Given the description of an element on the screen output the (x, y) to click on. 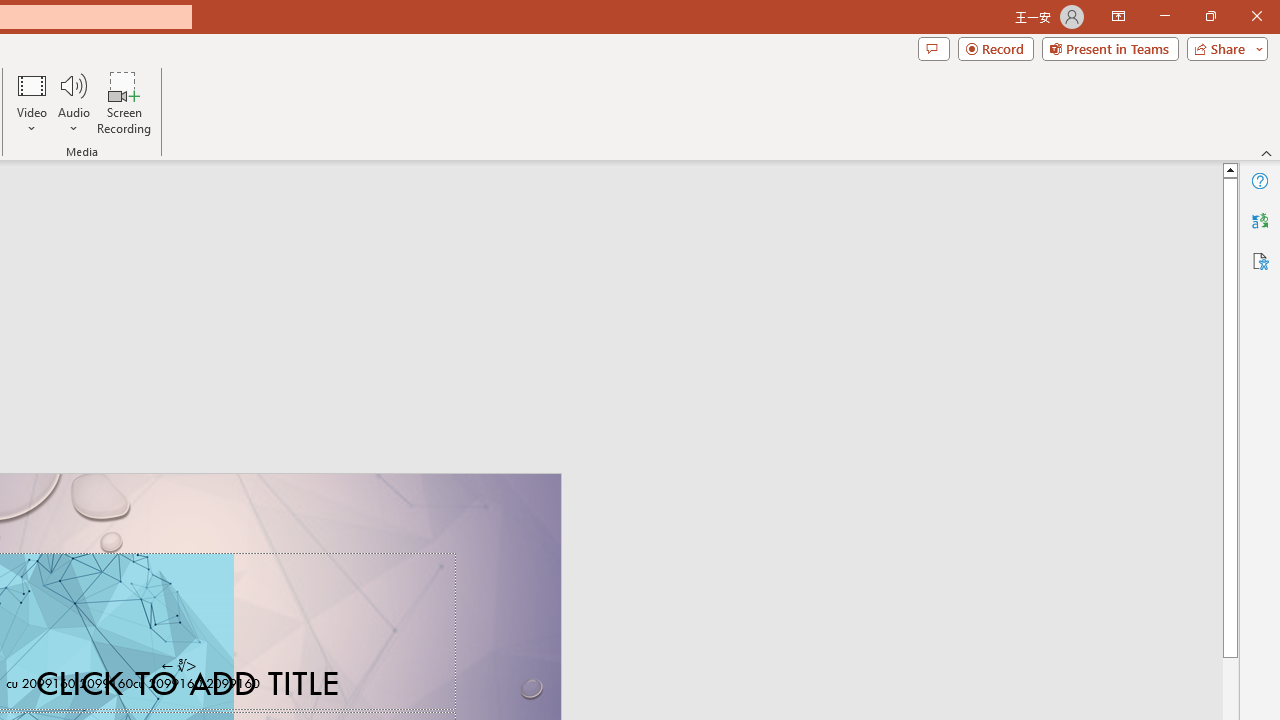
Audio (73, 102)
Screen Recording... (123, 102)
